Given the description of an element on the screen output the (x, y) to click on. 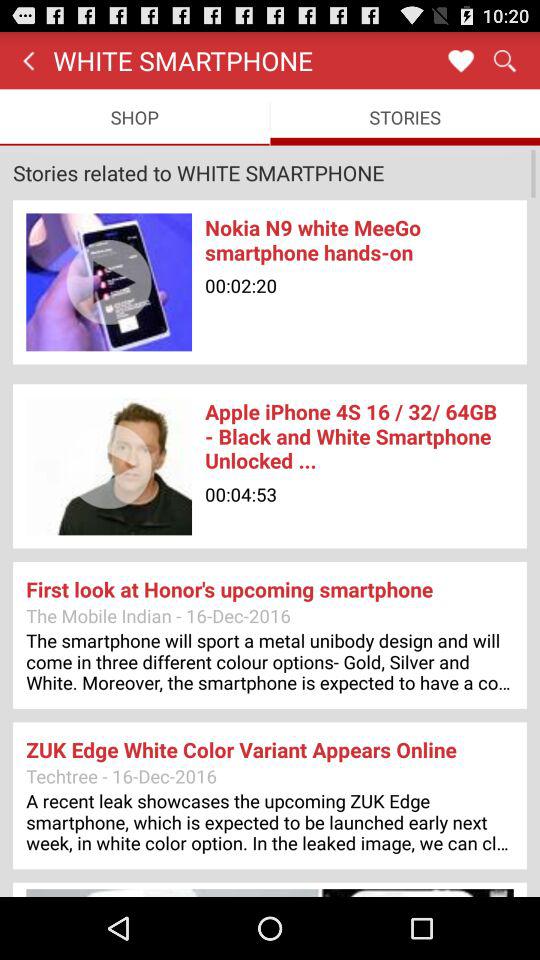
tap app next to the white smartphone (460, 60)
